Given the description of an element on the screen output the (x, y) to click on. 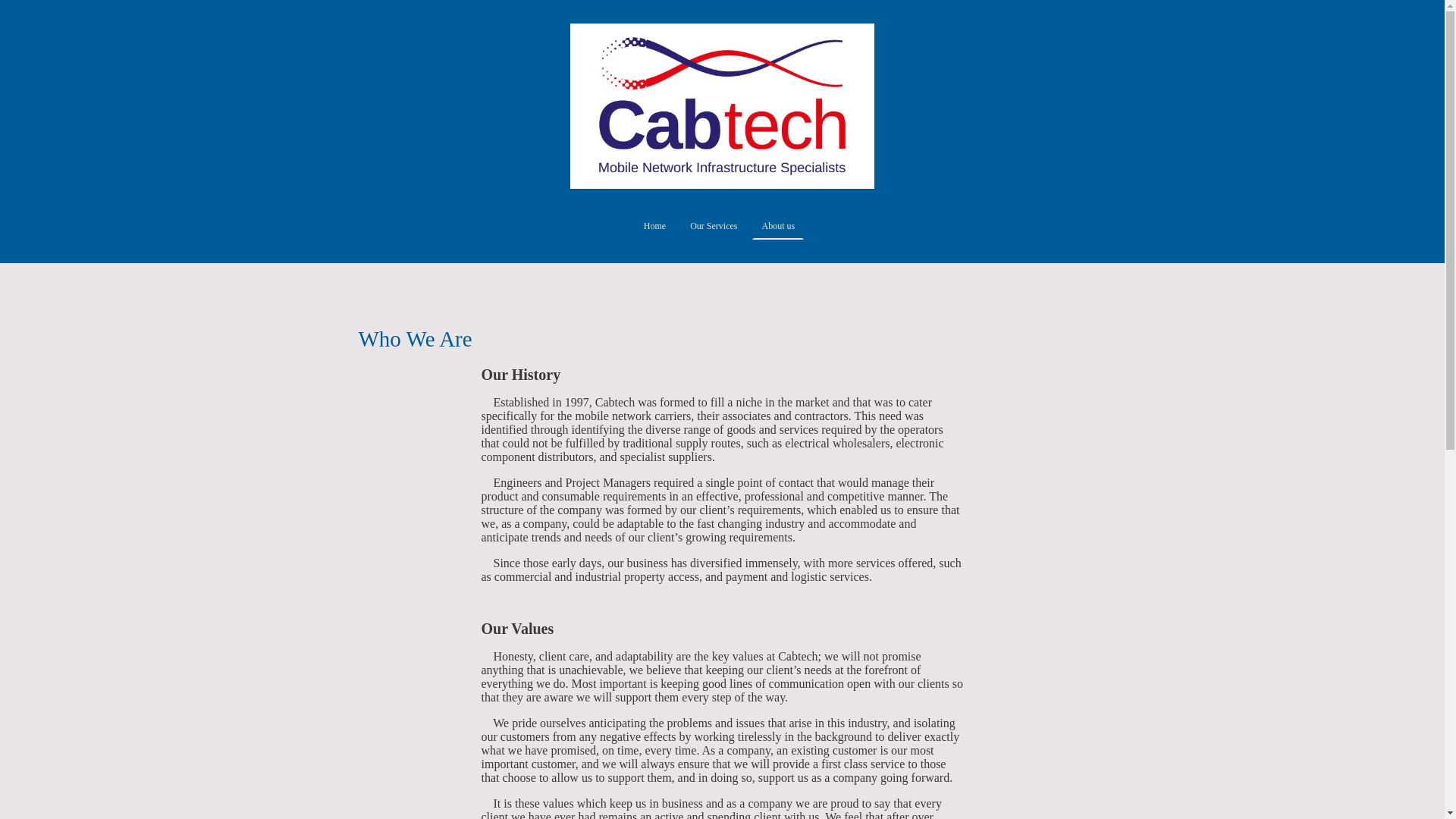
Our Services (713, 226)
About us (778, 226)
Home (654, 226)
